Given the description of an element on the screen output the (x, y) to click on. 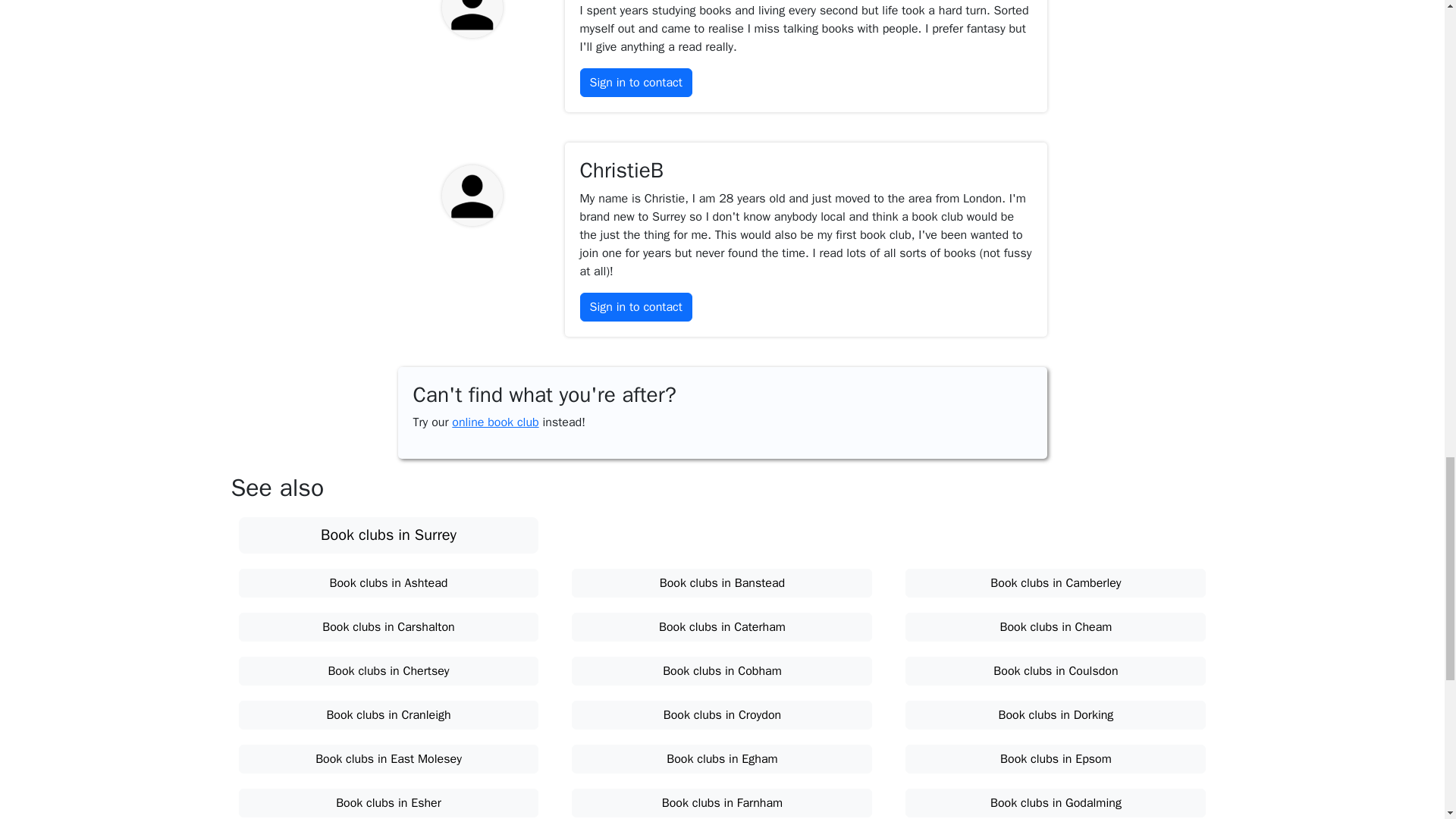
Book clubs in Egham (722, 758)
Sign in to contact (635, 306)
Book clubs in Ashtead (388, 582)
Book clubs in Surrey (388, 534)
Sign in to contact (635, 82)
Book clubs in Coulsdon (1055, 670)
Book clubs in Caterham (722, 626)
Book clubs in Banstead (722, 582)
Book clubs in Dorking (1055, 715)
Book clubs in Cranleigh (388, 715)
Book clubs in East Molesey (388, 758)
online book club (494, 421)
Book clubs in Godalming (1055, 802)
Book clubs in Cheam (1055, 626)
Book clubs in Epsom (1055, 758)
